Given the description of an element on the screen output the (x, y) to click on. 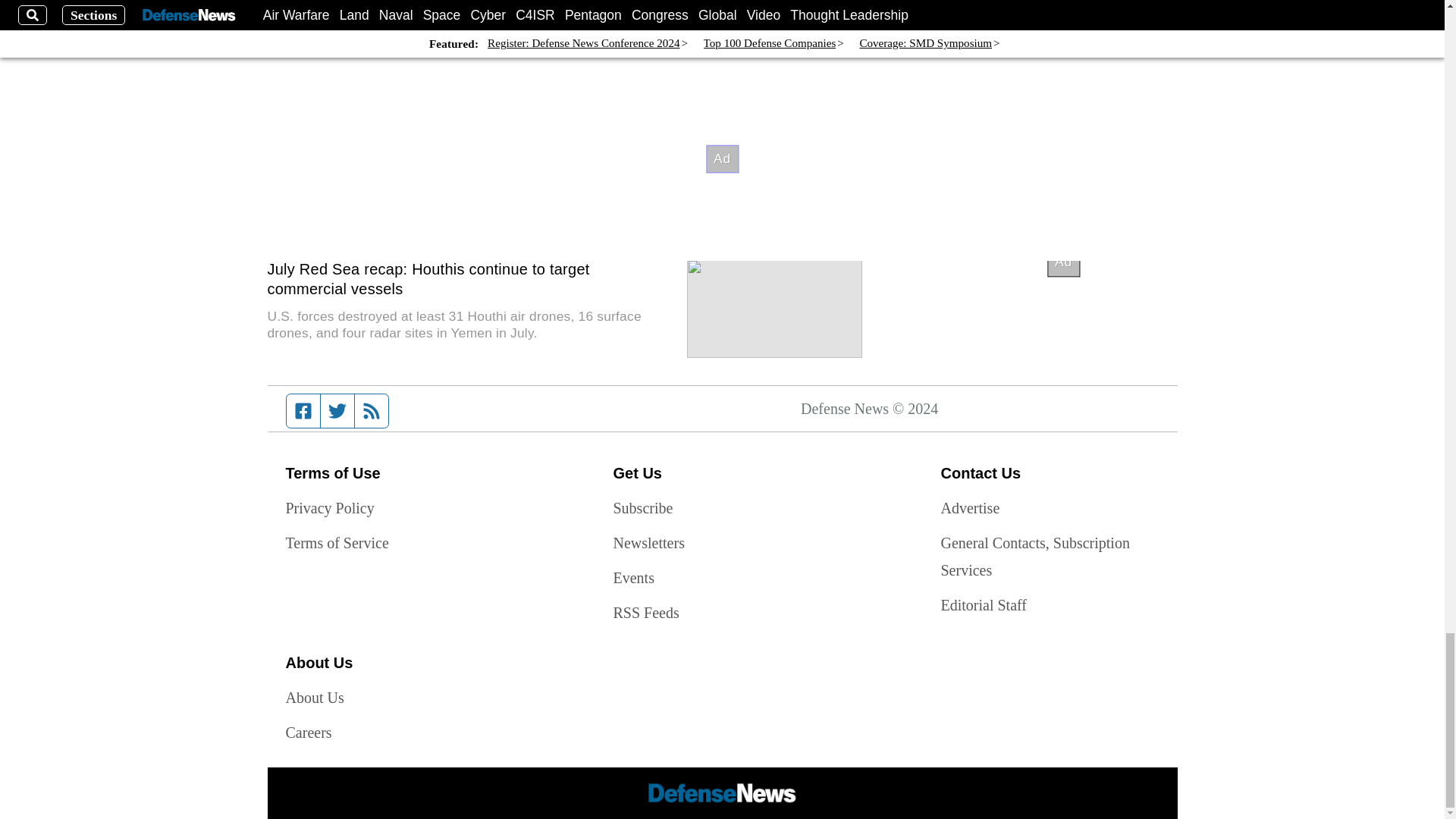
RSS feed (371, 410)
Facebook page (303, 410)
Twitter feed (336, 410)
